Given the description of an element on the screen output the (x, y) to click on. 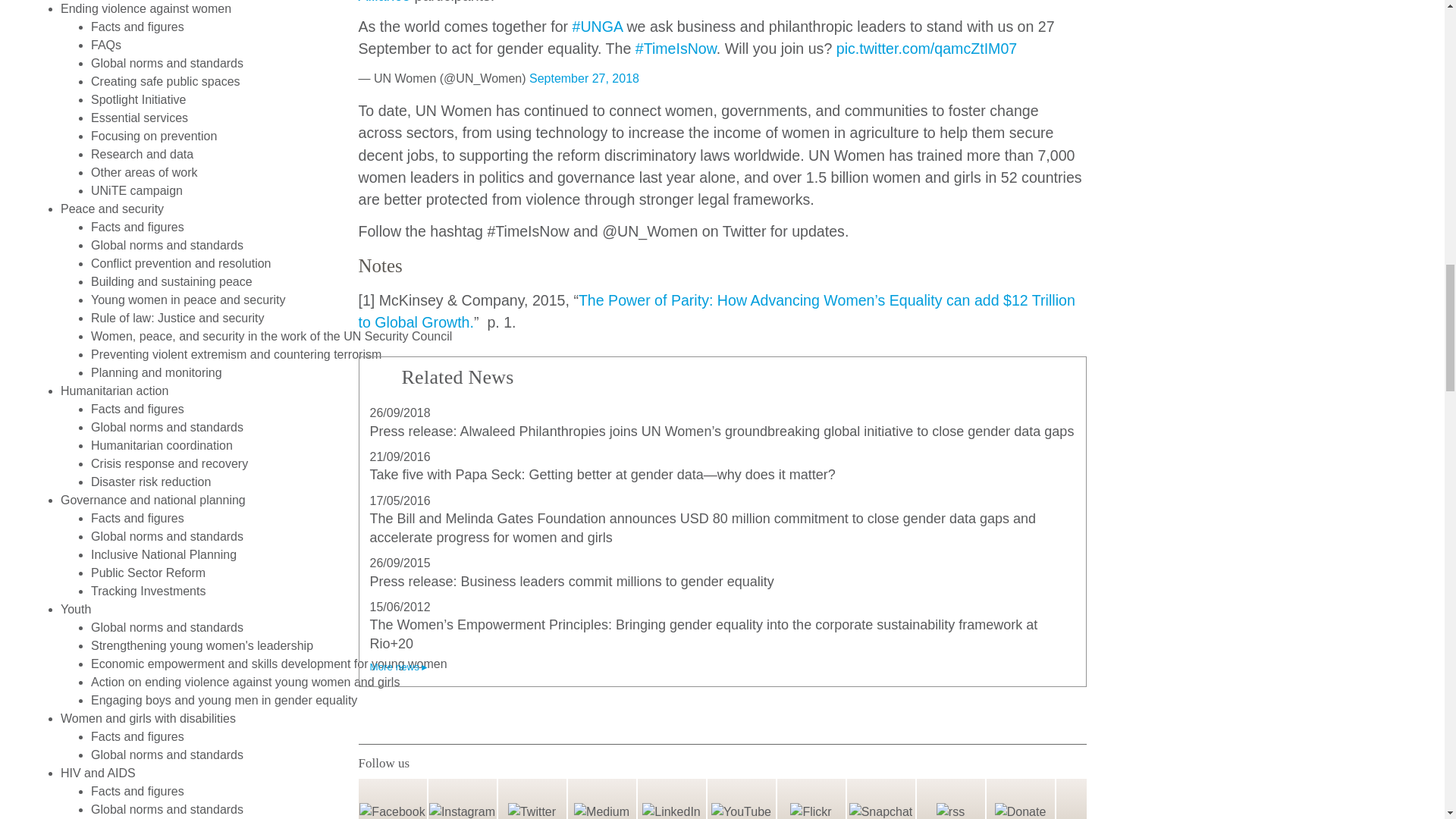
UNiTE by 2030 to End Violence against Women campaign (136, 190)
Donate (1019, 800)
Facts and figures: Women, peace, and security (137, 226)
